Given the description of an element on the screen output the (x, y) to click on. 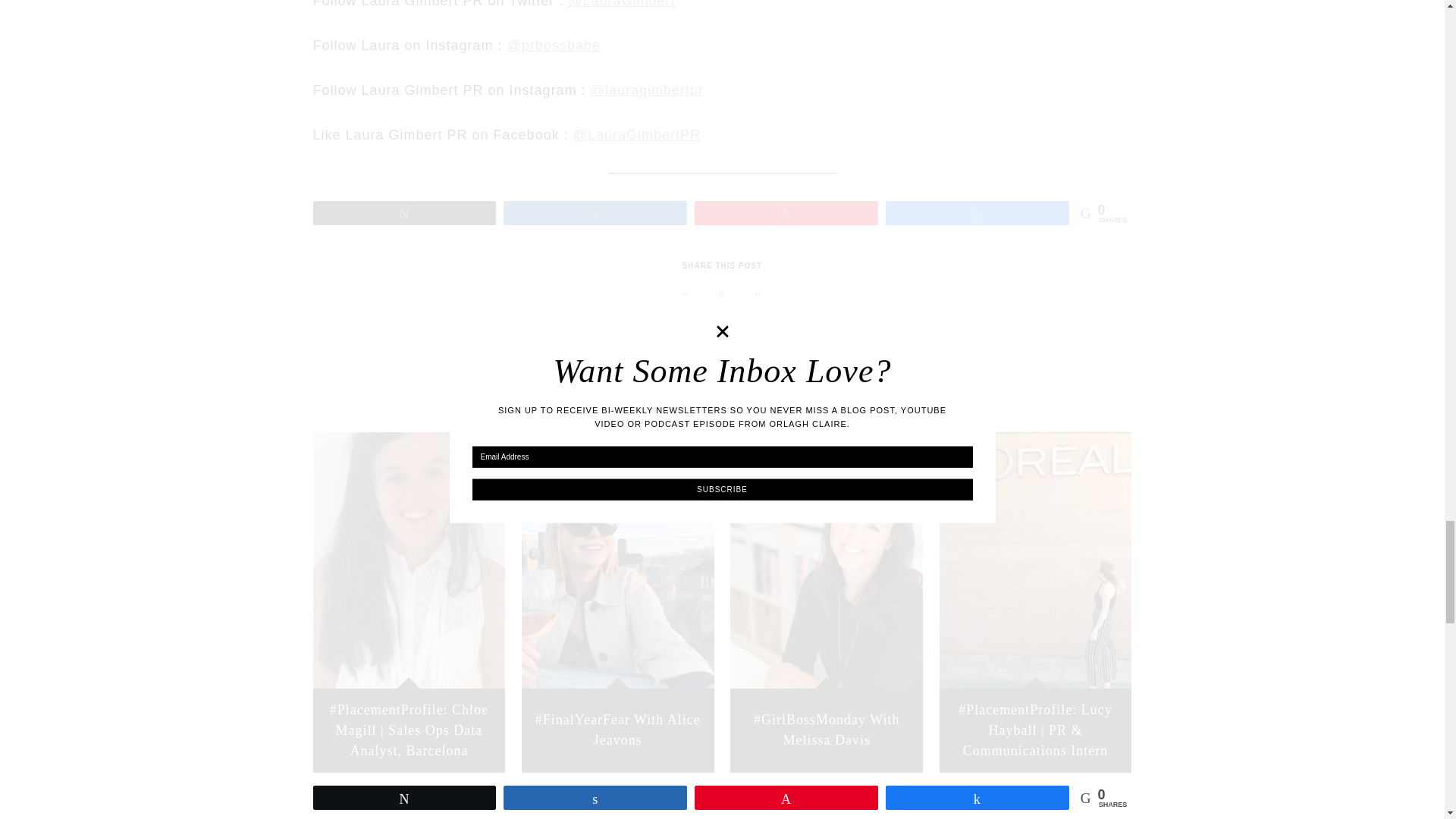
Share on Facebook (757, 297)
Share on Twitter (722, 297)
Share on Pinterest (686, 297)
